Given the description of an element on the screen output the (x, y) to click on. 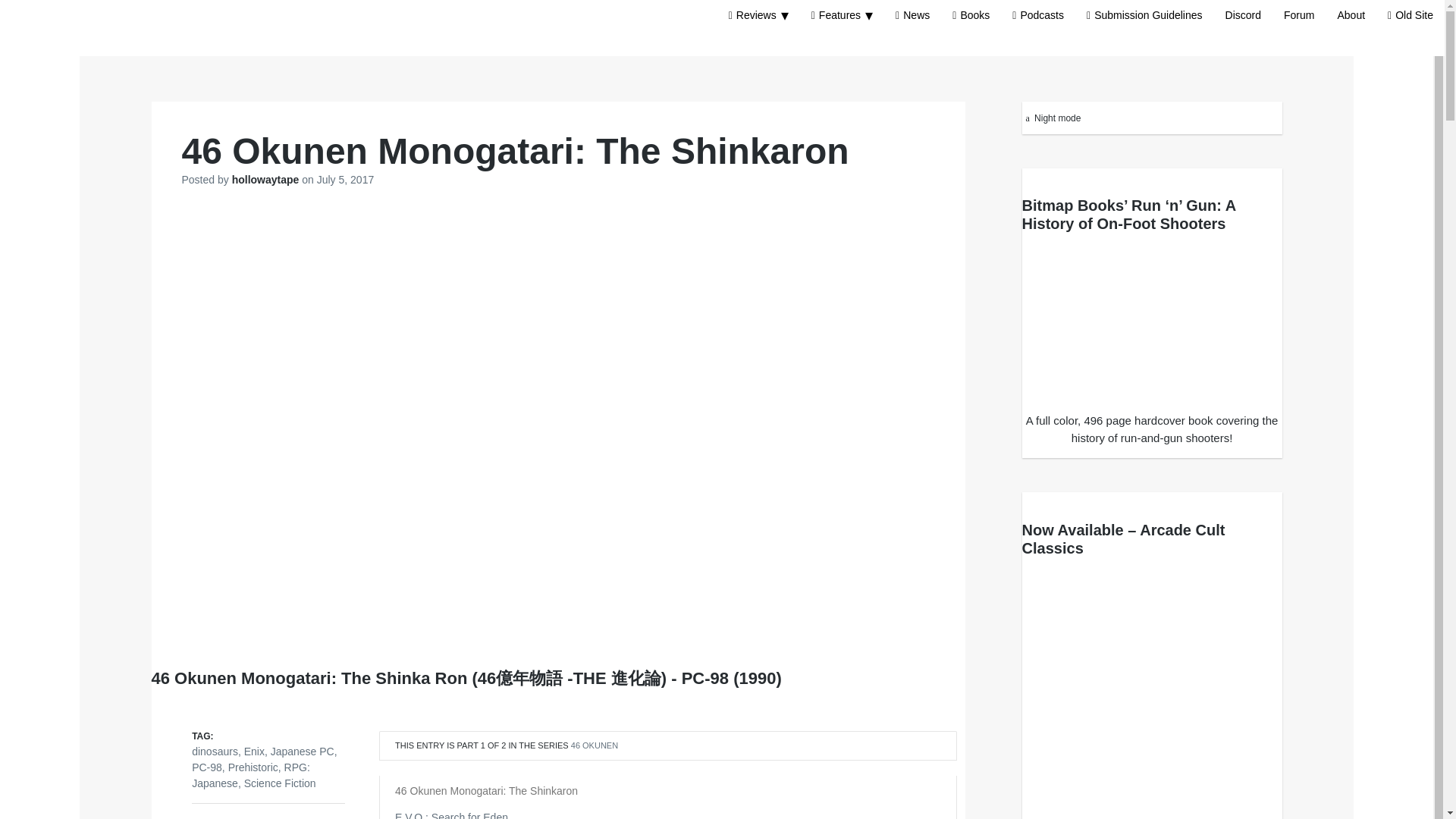
46 OKUNEN (593, 745)
46 Okunen (593, 745)
hollowaytape (266, 179)
Enix (254, 751)
E.V.O.: Search for Eden (451, 815)
E.V.O.: Search for Eden (451, 815)
dinosaurs (215, 751)
